Given the description of an element on the screen output the (x, y) to click on. 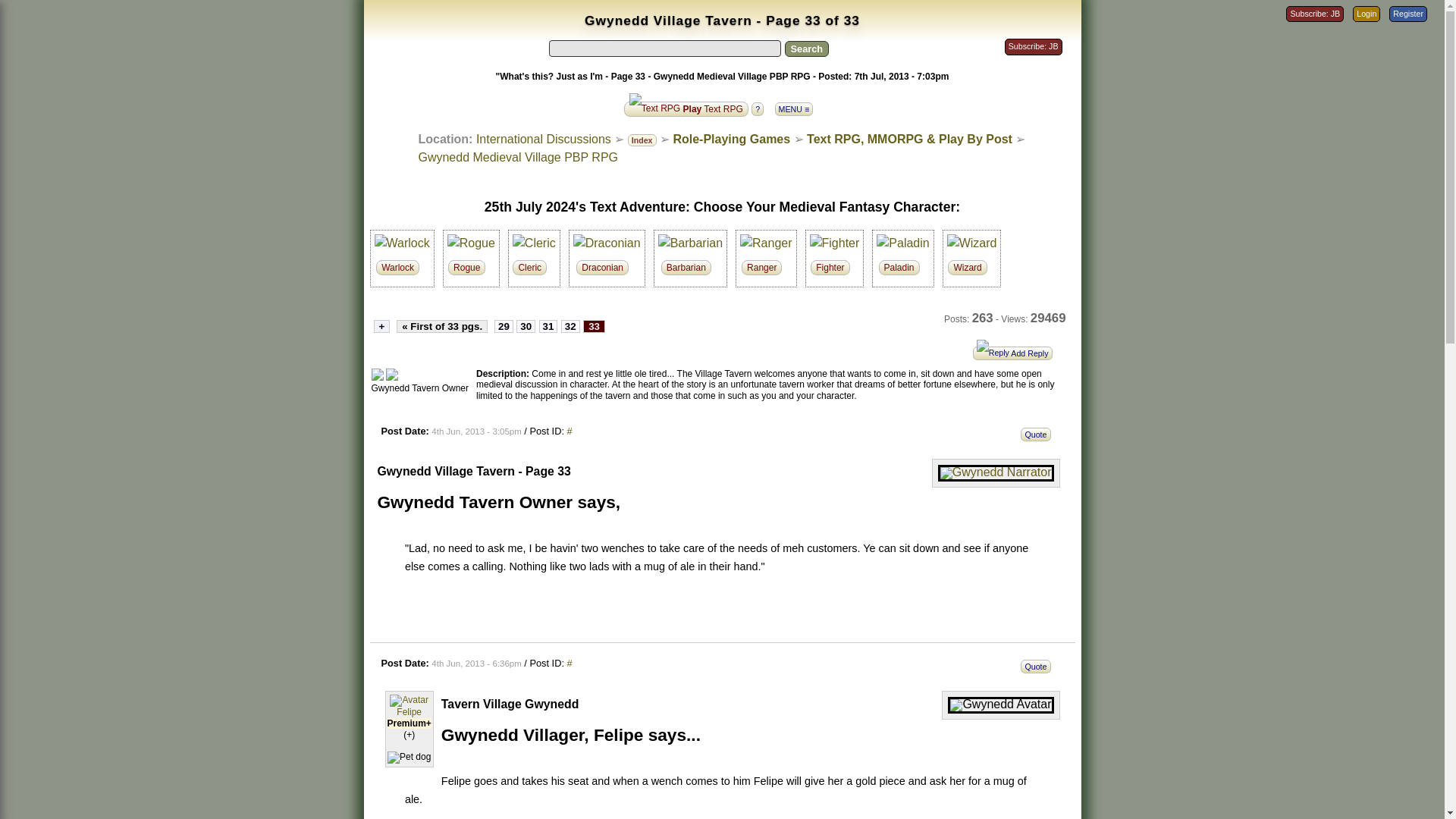
Menu (797, 104)
Wizard (972, 243)
Search (806, 48)
Jump to page... (381, 325)
Reply to this topic (1015, 351)
International Discussions (543, 138)
Paladin (902, 243)
Draconian (606, 243)
Paladin (765, 243)
Warlock (401, 243)
Rogue (470, 243)
Page: 1 (441, 325)
Home (543, 138)
